Given the description of an element on the screen output the (x, y) to click on. 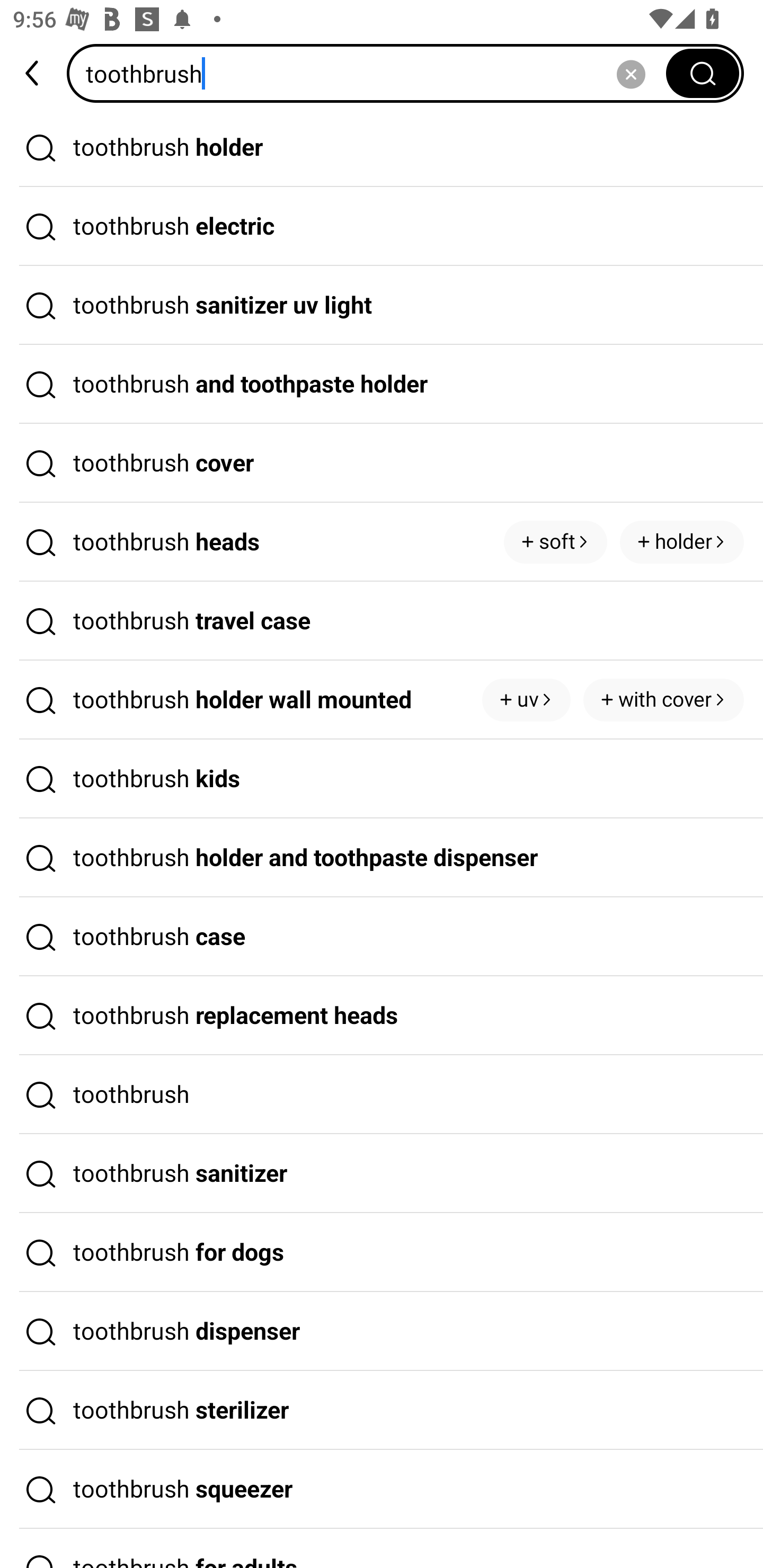
back (33, 72)
toothbrush (372, 73)
Delete search history (630, 73)
toothbrush holder (381, 147)
toothbrush electric (381, 226)
toothbrush sanitizer uv light (381, 305)
toothbrush and toothpaste holder (381, 383)
toothbrush cover (381, 463)
toothbrush heads soft holder (381, 542)
soft (555, 541)
holder (681, 541)
toothbrush travel case (381, 620)
toothbrush holder wall mounted uv with cover (381, 700)
uv (526, 699)
with cover (663, 699)
toothbrush kids (381, 779)
toothbrush holder and toothpaste dispenser (381, 857)
toothbrush case (381, 936)
toothbrush replacement heads (381, 1015)
toothbrush (381, 1094)
toothbrush sanitizer (381, 1173)
toothbrush for dogs (381, 1252)
toothbrush dispenser (381, 1331)
toothbrush sterilizer (381, 1410)
toothbrush squeezer (381, 1489)
